Given the description of an element on the screen output the (x, y) to click on. 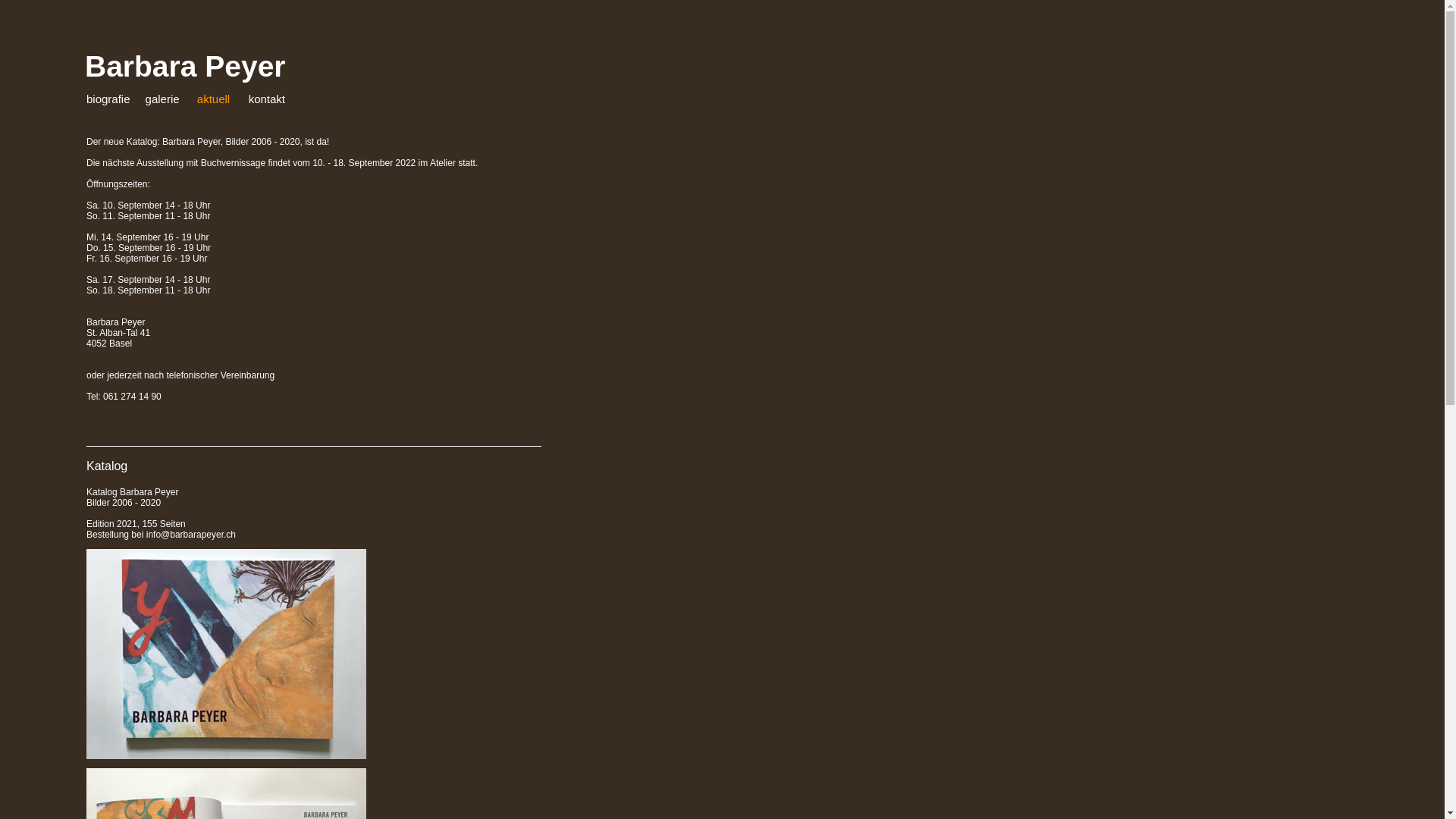
biografie Element type: text (108, 98)
info@barbarapeyer.ch Element type: text (190, 534)
kontakt Element type: text (266, 98)
Barbara Peyer Element type: text (184, 66)
galerie Element type: text (162, 98)
